Given the description of an element on the screen output the (x, y) to click on. 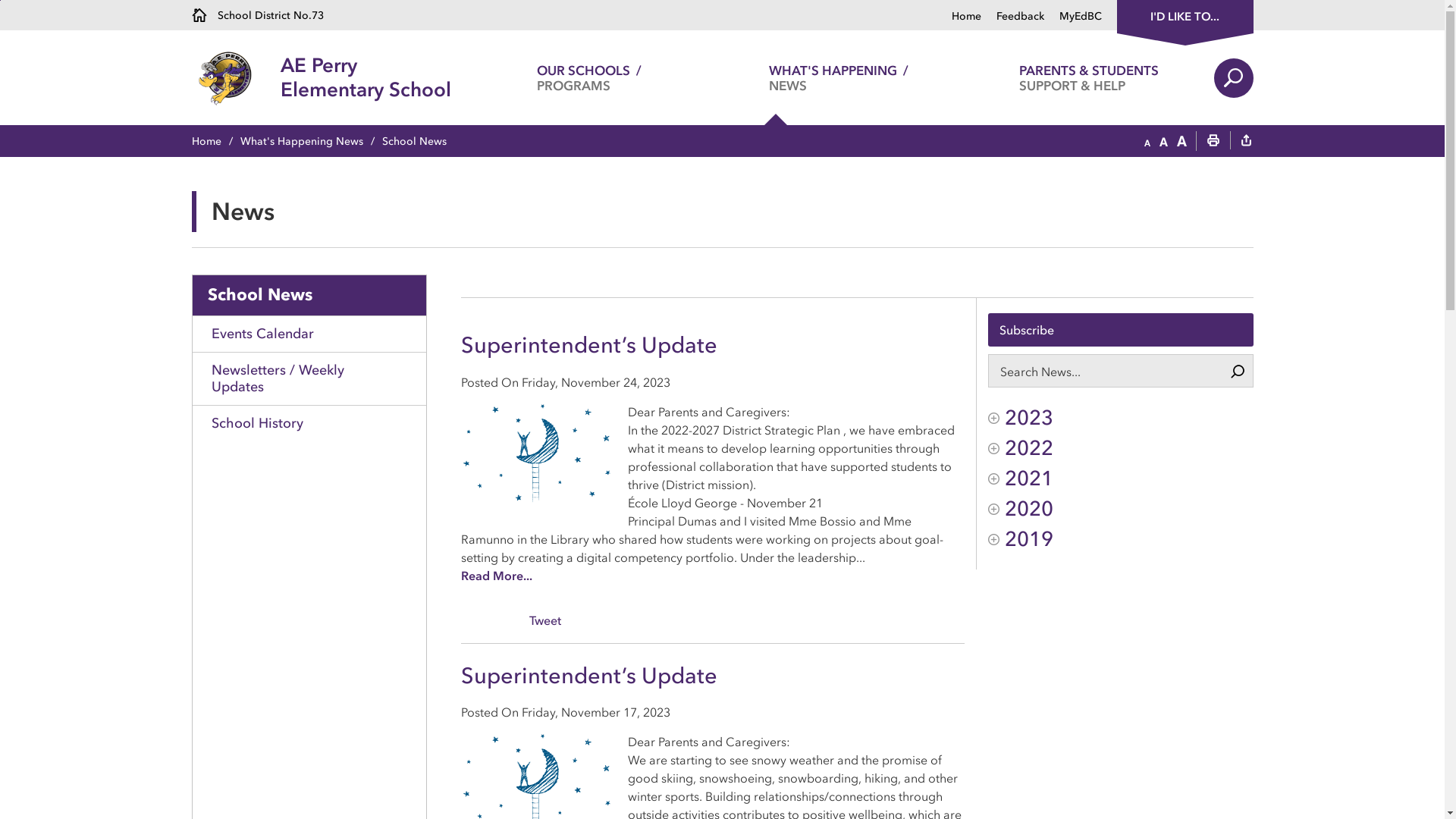
Newsletters / Weekly Updates Element type: text (309, 377)
Search Element type: text (1232, 77)
Skip to Content Element type: text (0, 0)
2019 Element type: text (1120, 539)
Tweet Element type: text (545, 619)
2021 Element type: text (1120, 478)
What's Happening News Element type: text (310, 140)
Feedback Element type: text (1012, 15)
PARENTS & STUDENTS
SUPPORT & HELP Element type: text (1088, 77)
Read More... Element type: text (496, 575)
Subscribe Element type: text (1120, 329)
Print This Page Element type: hover (1212, 141)
2023 Element type: text (1120, 417)
Increase text size Element type: hover (1181, 141)
School News Element type: text (309, 294)
Decrease text size Element type: hover (1146, 141)
Default text size Element type: hover (1162, 141)
Home Element type: text (215, 140)
2020 Element type: text (1120, 508)
Home Element type: text (965, 15)
Click to return to the homepage Element type: hover (235, 77)
News Search Element type: hover (1237, 371)
School District No.73 Element type: text (257, 15)
OUR SCHOOLS
PROGRAMS Element type: text (588, 77)
WHAT'S HAPPENING
NEWS Element type: text (838, 77)
facebook like button Element type: hover (490, 619)
MyEdBC Element type: text (1072, 15)
  Element type: text (1245, 141)
Events Calendar Element type: text (309, 333)
I'D LIKE TO... Element type: text (1184, 15)
2022 Element type: text (1120, 448)
AE Perry
Elementary School Element type: text (365, 77)
School History Element type: text (309, 423)
